Given the description of an element on the screen output the (x, y) to click on. 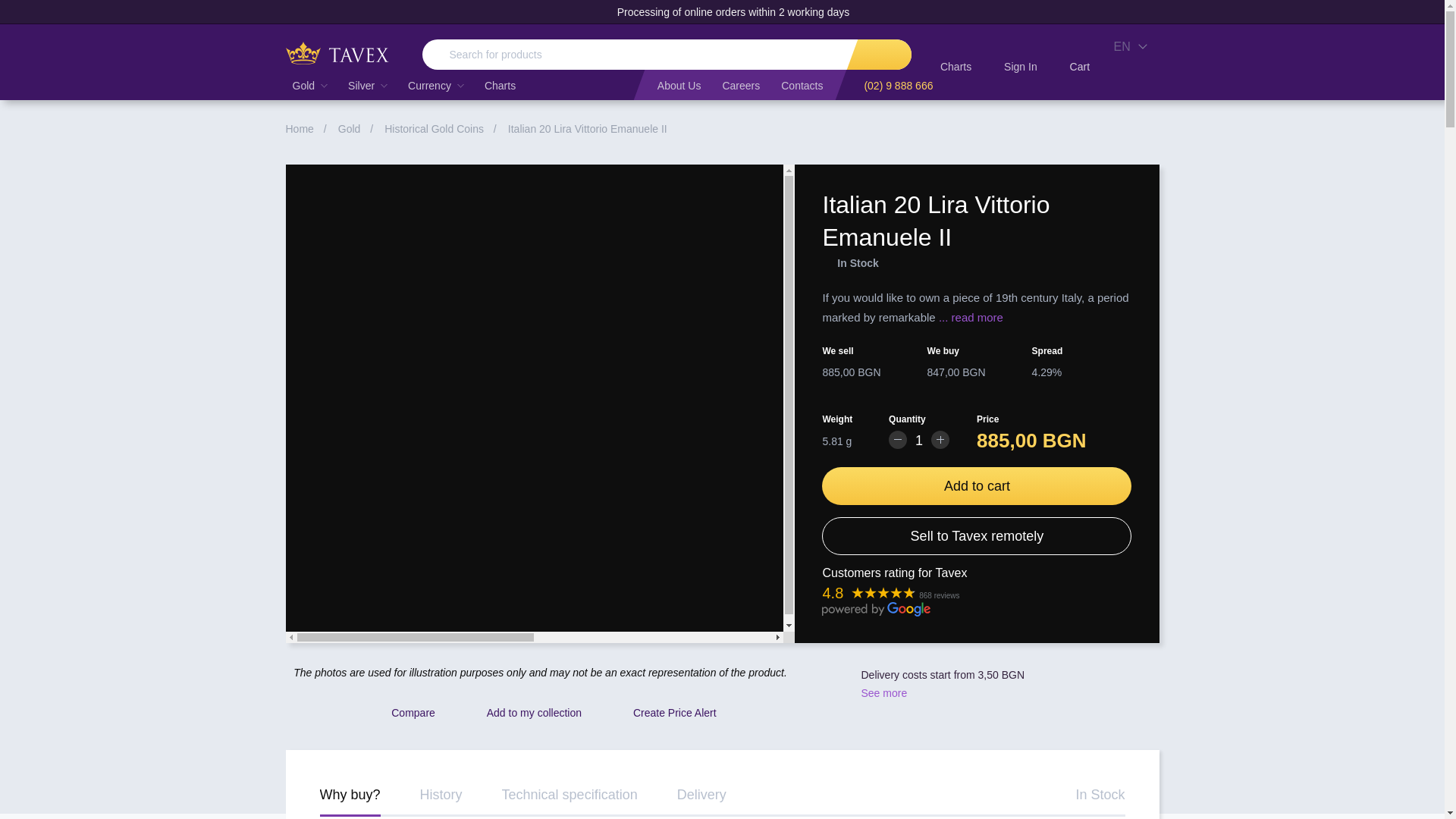
Silver (367, 85)
Gold (309, 85)
Powered by Google (876, 608)
... read more (971, 317)
1 (919, 441)
